Given the description of an element on the screen output the (x, y) to click on. 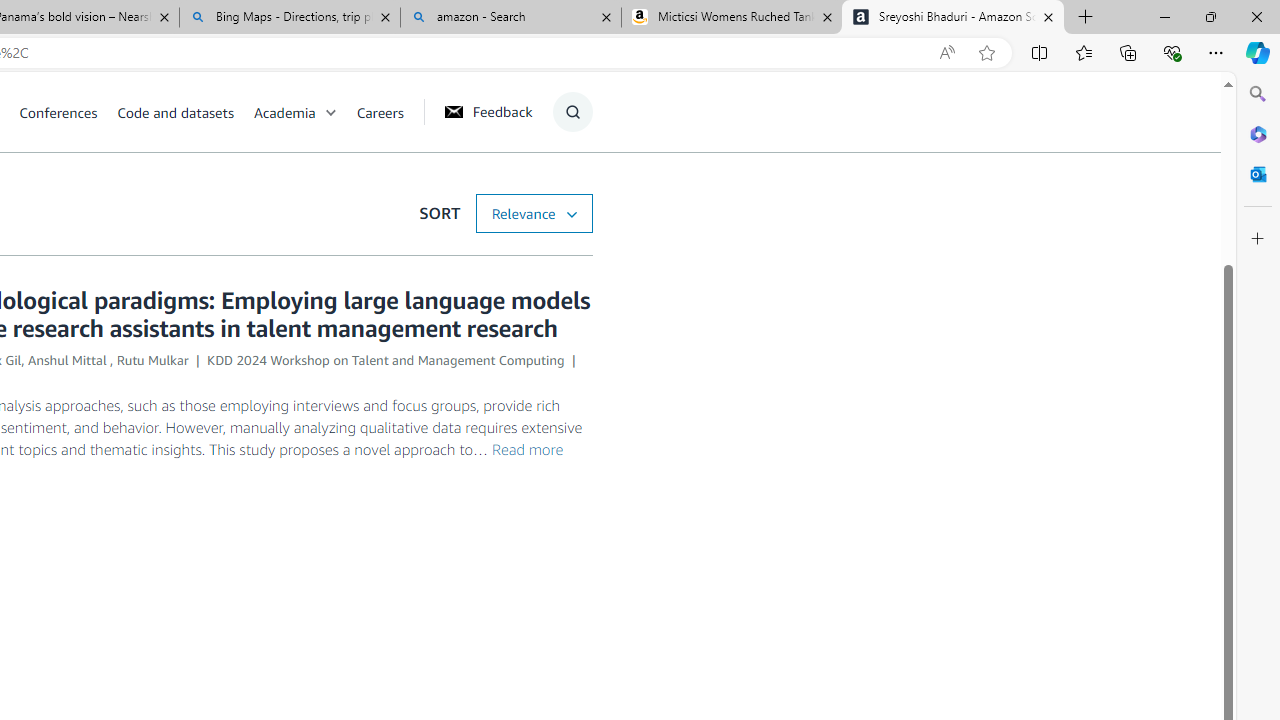
Rutu Mulkar (152, 360)
Open Sub Navigation (330, 111)
Read more (527, 449)
SORT (533, 213)
Class: chevron (330, 116)
Class: icon-magnify (571, 111)
Conferences (58, 111)
